Given the description of an element on the screen output the (x, y) to click on. 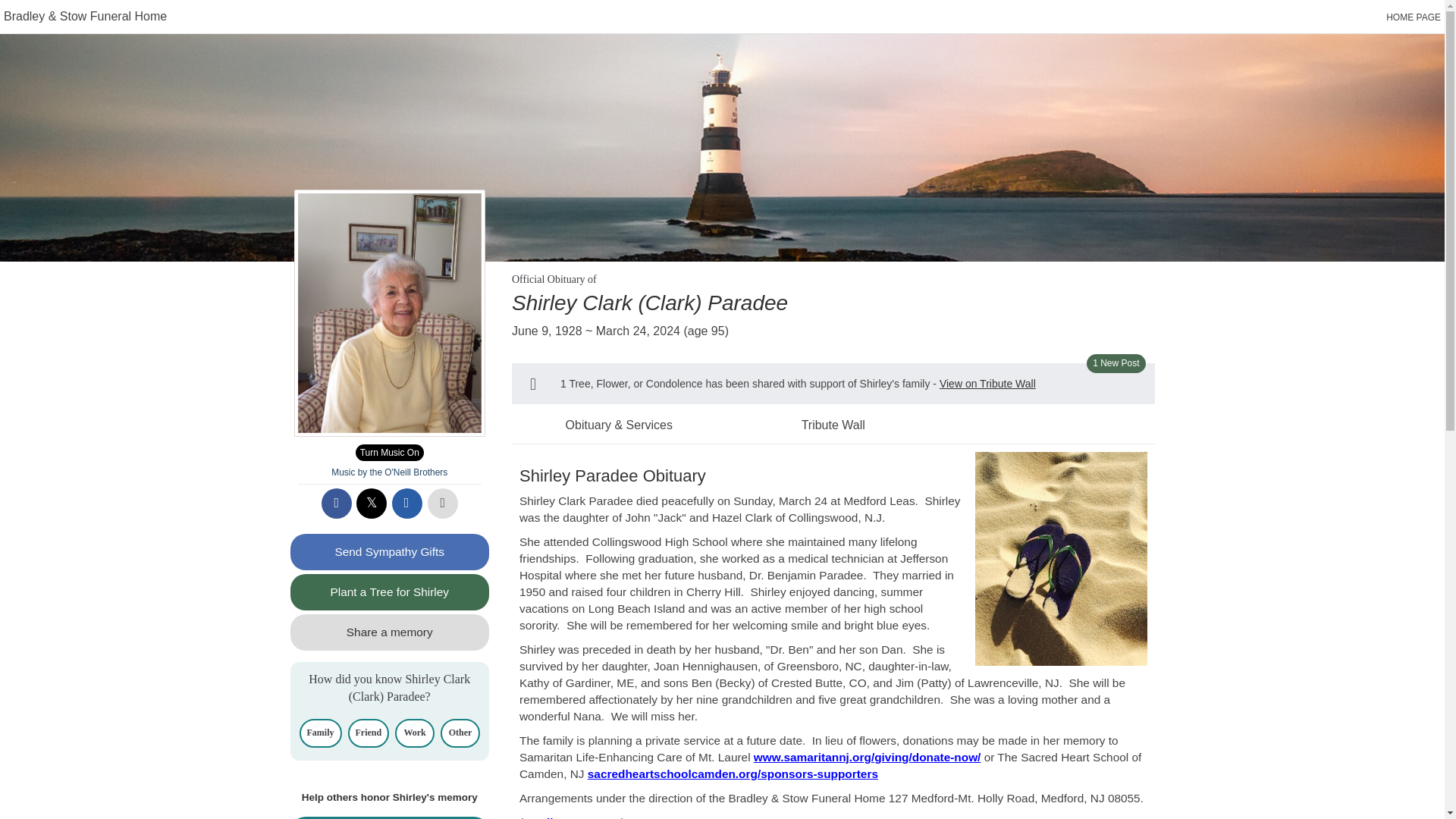
Share a memory (389, 632)
Music by the O'Neill Brothers (388, 471)
Share via email (406, 503)
HOME PAGE (1413, 17)
Printable copy (443, 503)
Plant a Tree for Shirley (389, 592)
View on Tribute Wall (987, 383)
BradleyStow.com (571, 817)
Turn Music On (389, 452)
Share on X (371, 503)
Share Obituary (389, 817)
Share to Facebook (336, 503)
Send Sympathy Gifts (389, 551)
